Given the description of an element on the screen output the (x, y) to click on. 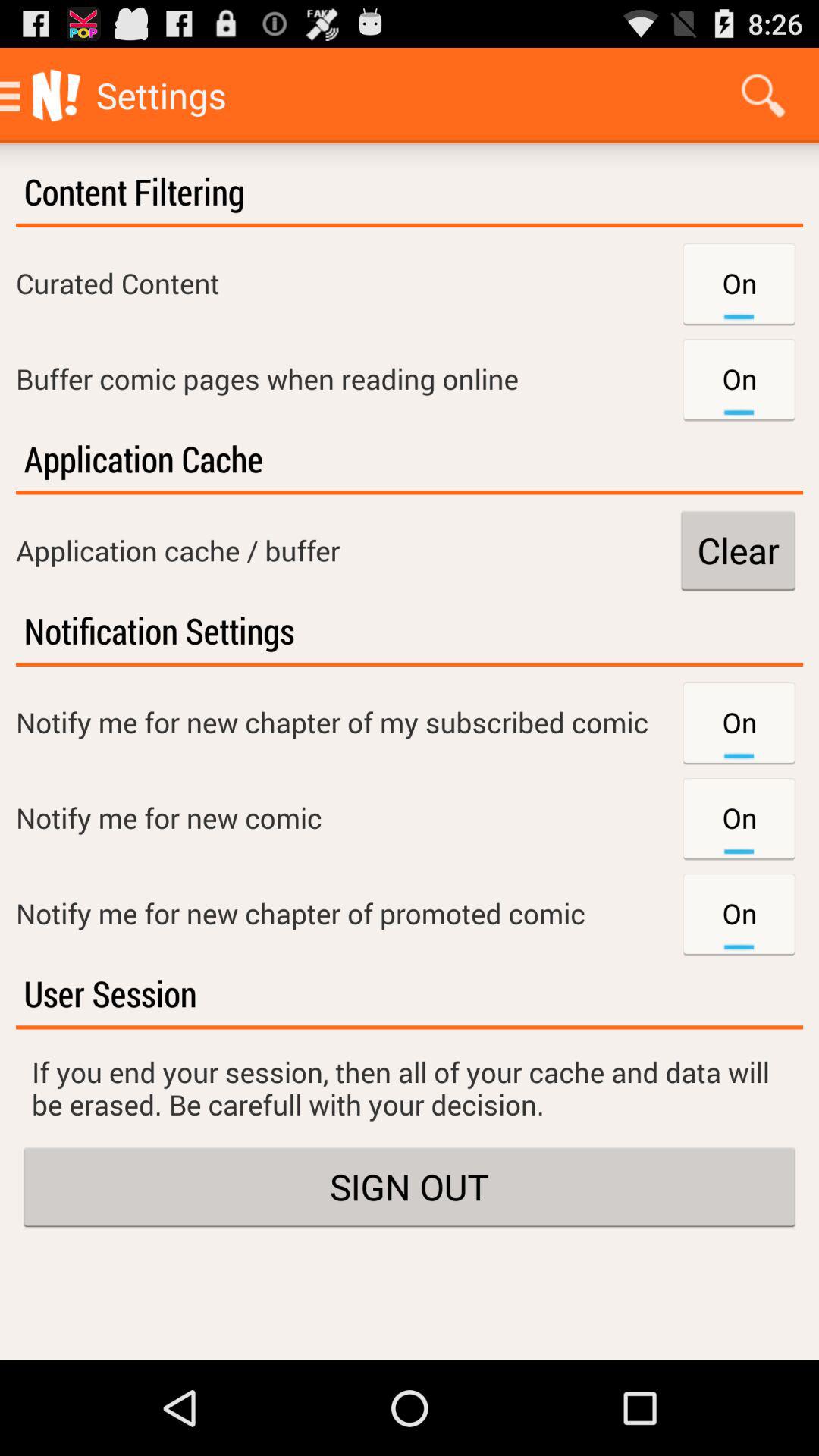
launch the item to the right of the application cache / buffer icon (738, 550)
